Given the description of an element on the screen output the (x, y) to click on. 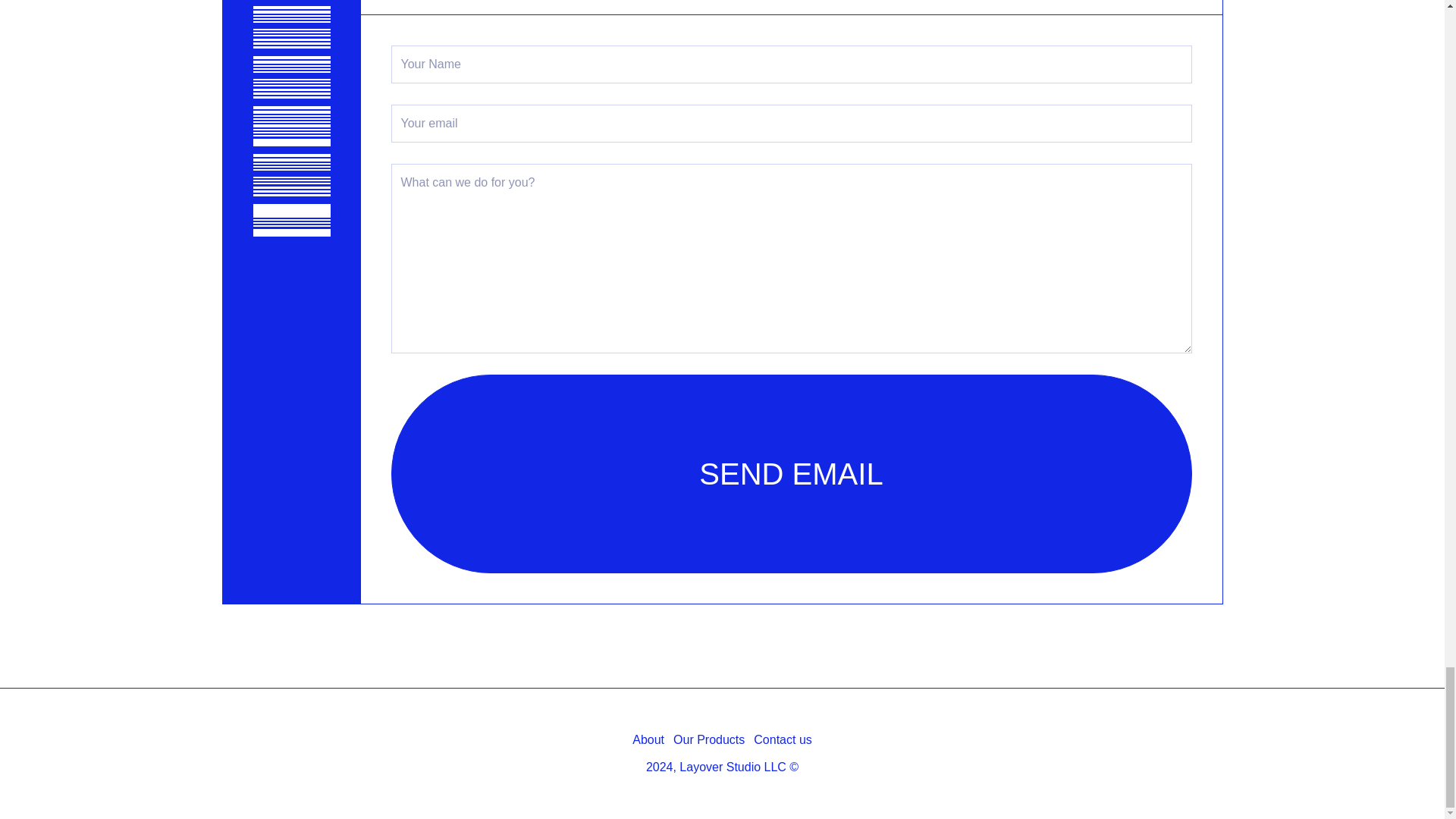
About (647, 740)
Contact us (782, 740)
Our Products (708, 740)
